Given the description of an element on the screen output the (x, y) to click on. 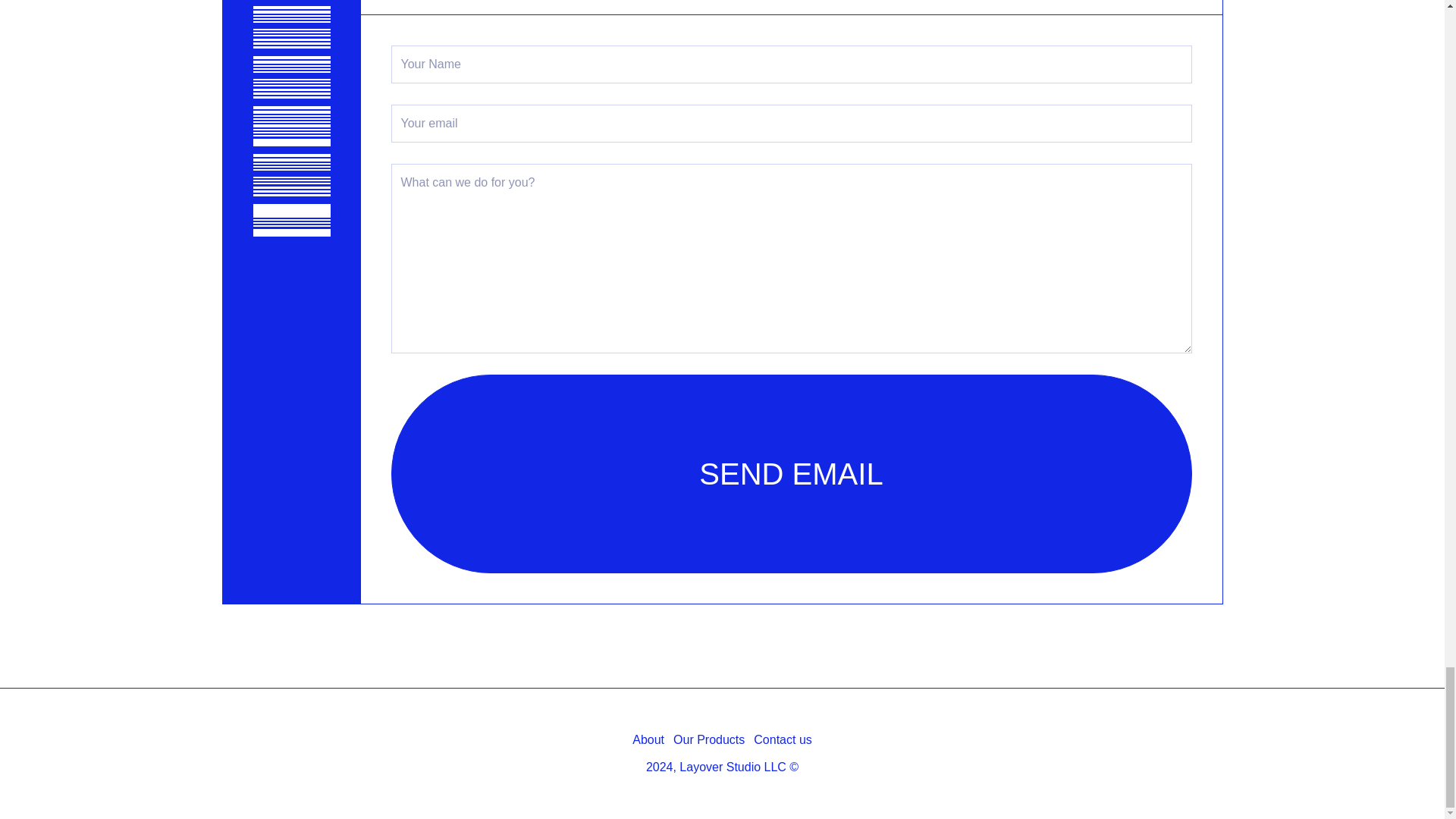
About (647, 740)
Contact us (782, 740)
Our Products (708, 740)
